Given the description of an element on the screen output the (x, y) to click on. 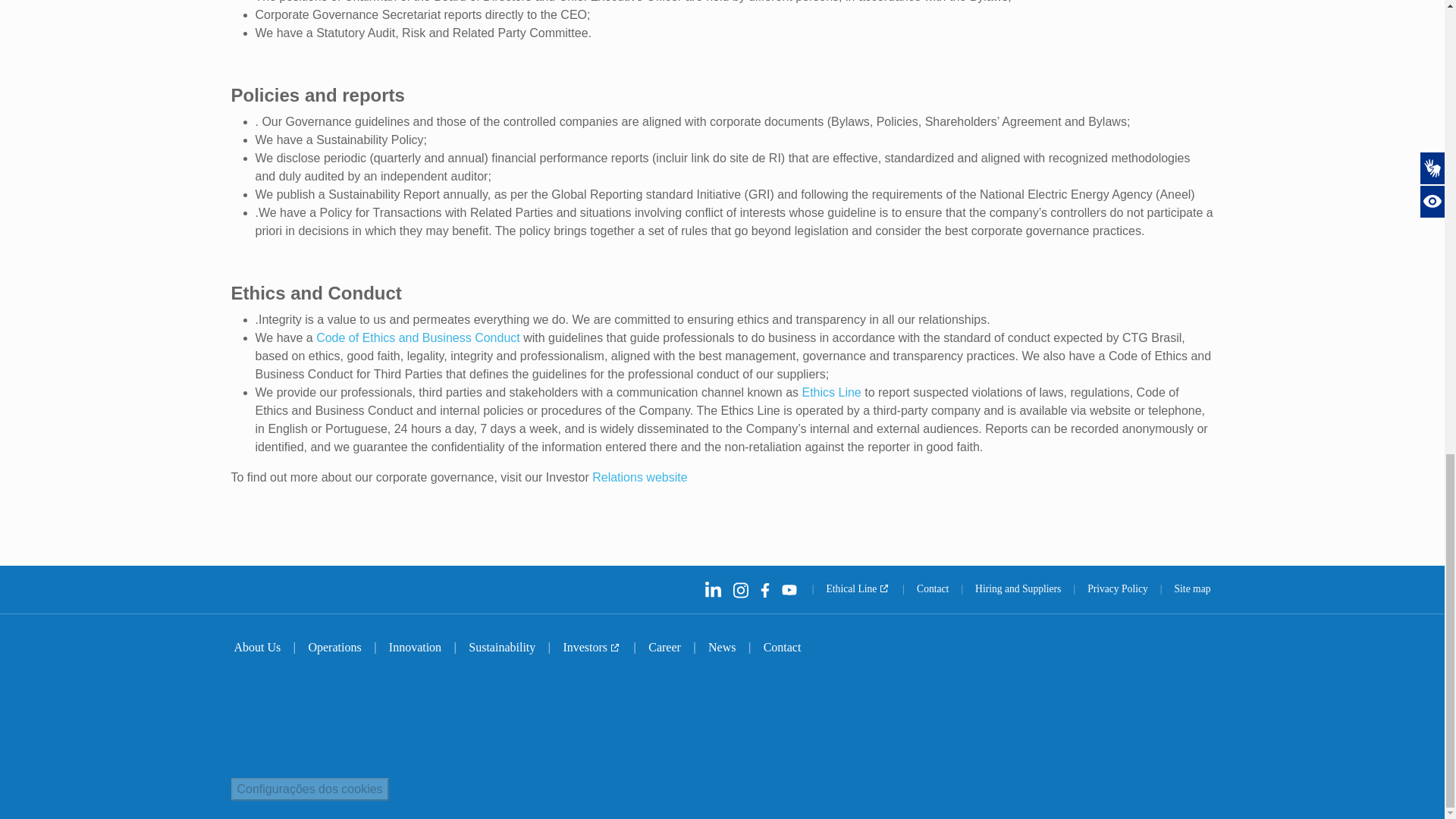
Code of Ethics and Business Conduct (417, 337)
